Given the description of an element on the screen output the (x, y) to click on. 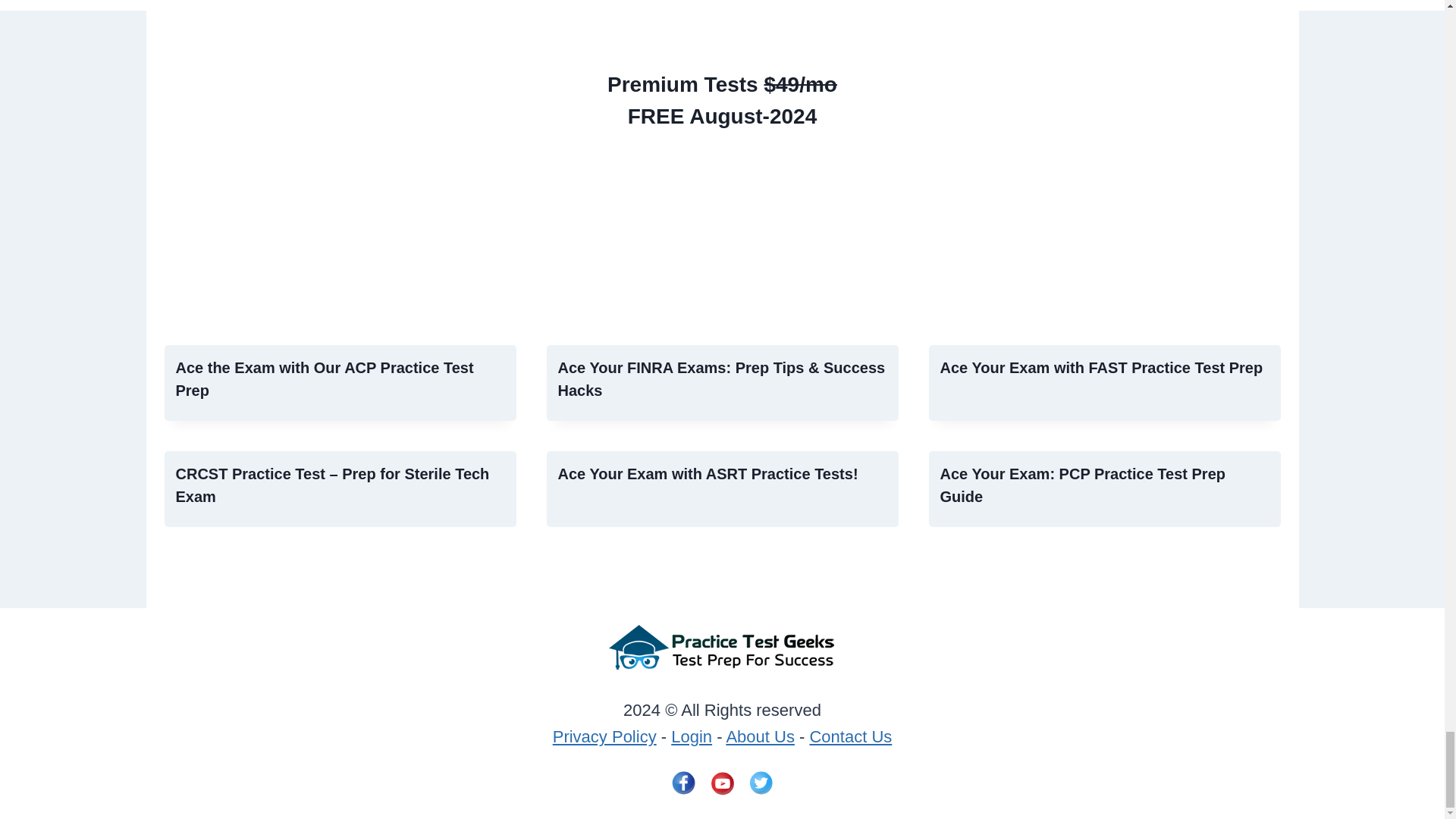
Contact Us (850, 736)
Login (691, 736)
Privacy Policy (604, 736)
Ace Your Exam: PCP Practice Test Prep Guide (1082, 485)
Ace the Exam with Our ACP Practice Test Prep (325, 378)
About Us (759, 736)
Ace Your Exam with ASRT Practice Tests! (708, 474)
Ace Your Exam with FAST Practice Test Prep (1101, 367)
